Given the description of an element on the screen output the (x, y) to click on. 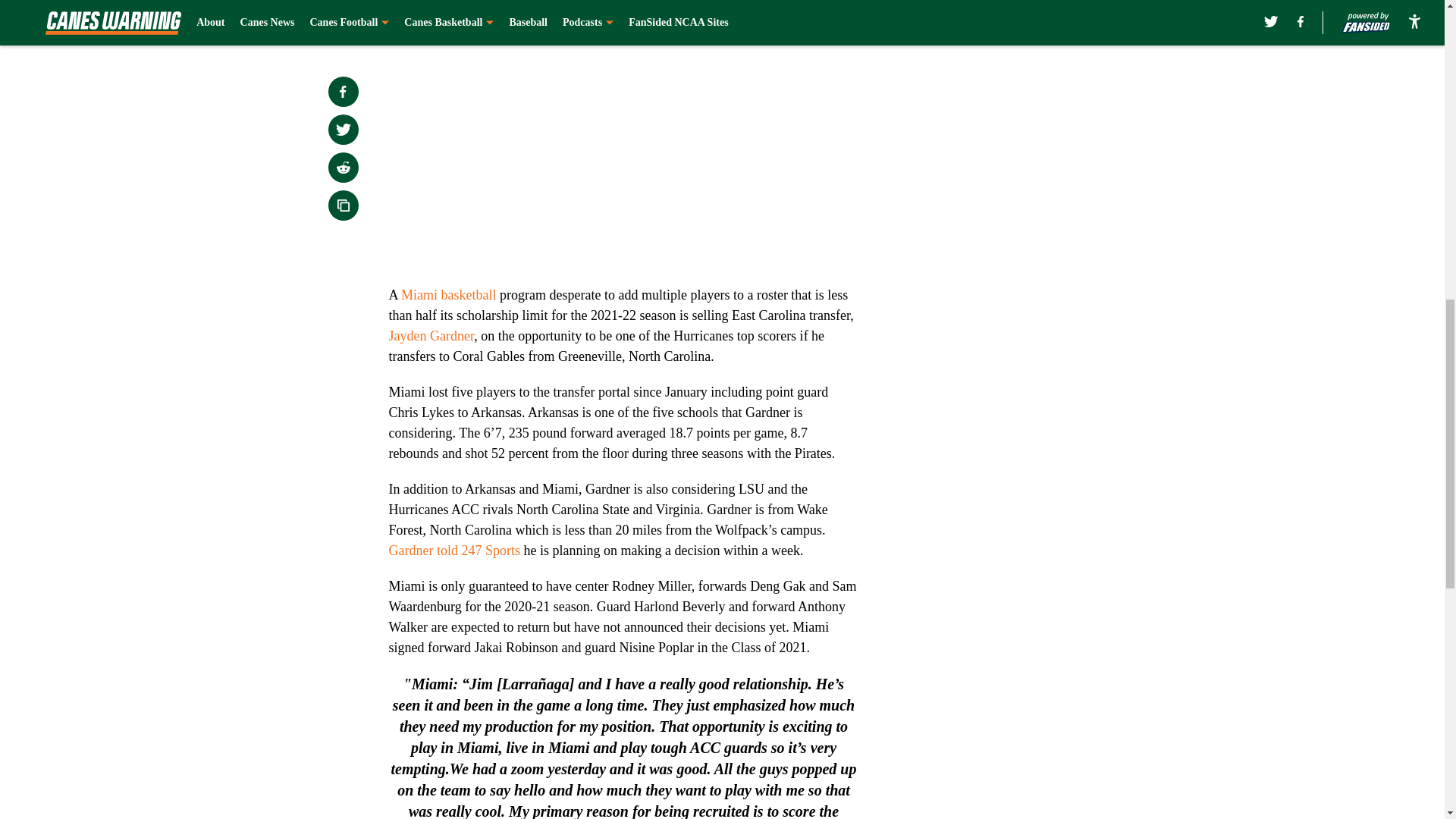
Gardner told 247 Sports (453, 549)
Jayden Gardner (431, 335)
Miami basketball (448, 294)
